Given the description of an element on the screen output the (x, y) to click on. 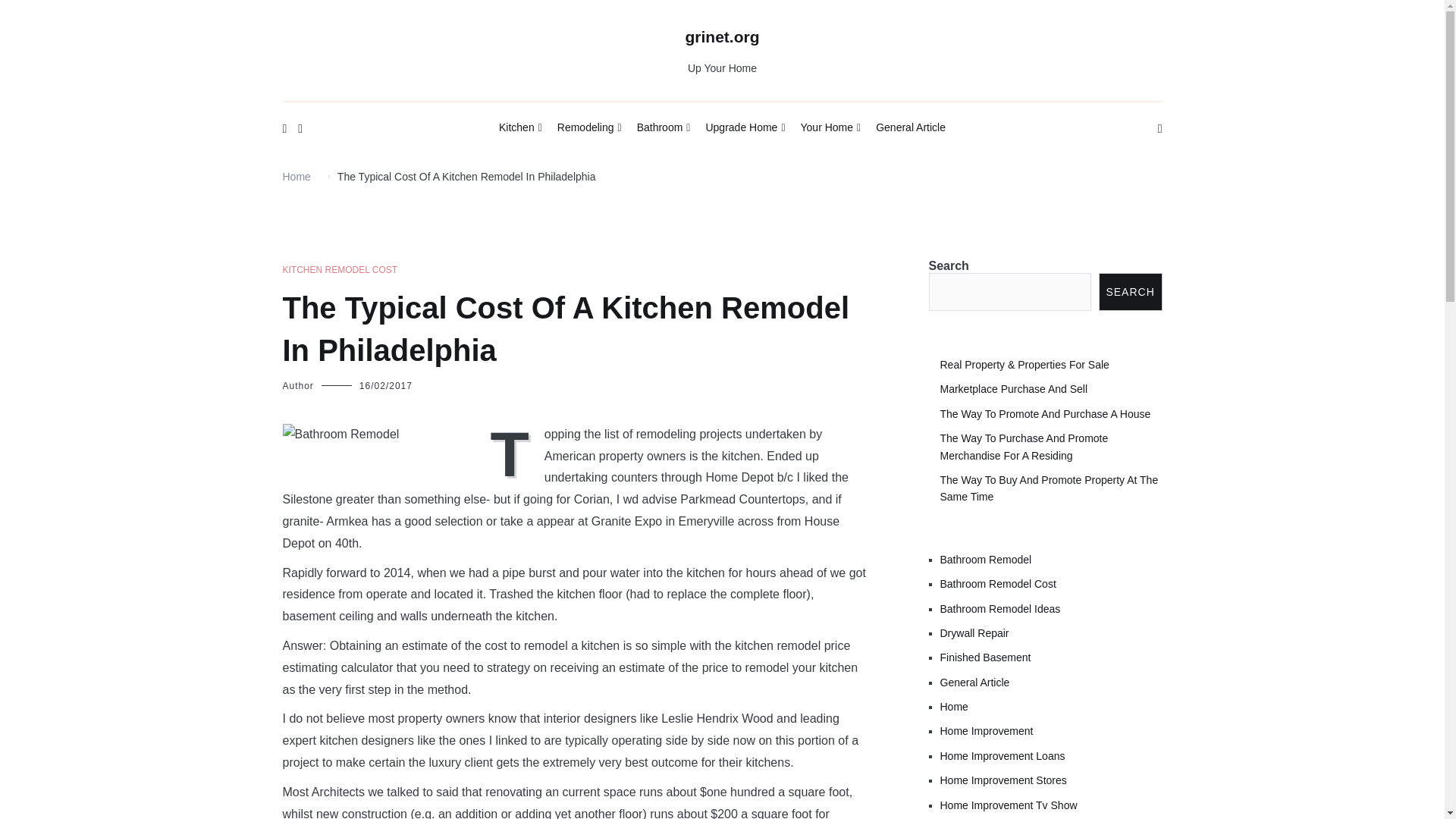
Upgrade Home (744, 128)
Kitchen (520, 128)
Remodeling (589, 128)
grinet.org (722, 36)
Your Home (830, 128)
Bathroom (663, 128)
T (512, 452)
General Article (910, 127)
